Given the description of an element on the screen output the (x, y) to click on. 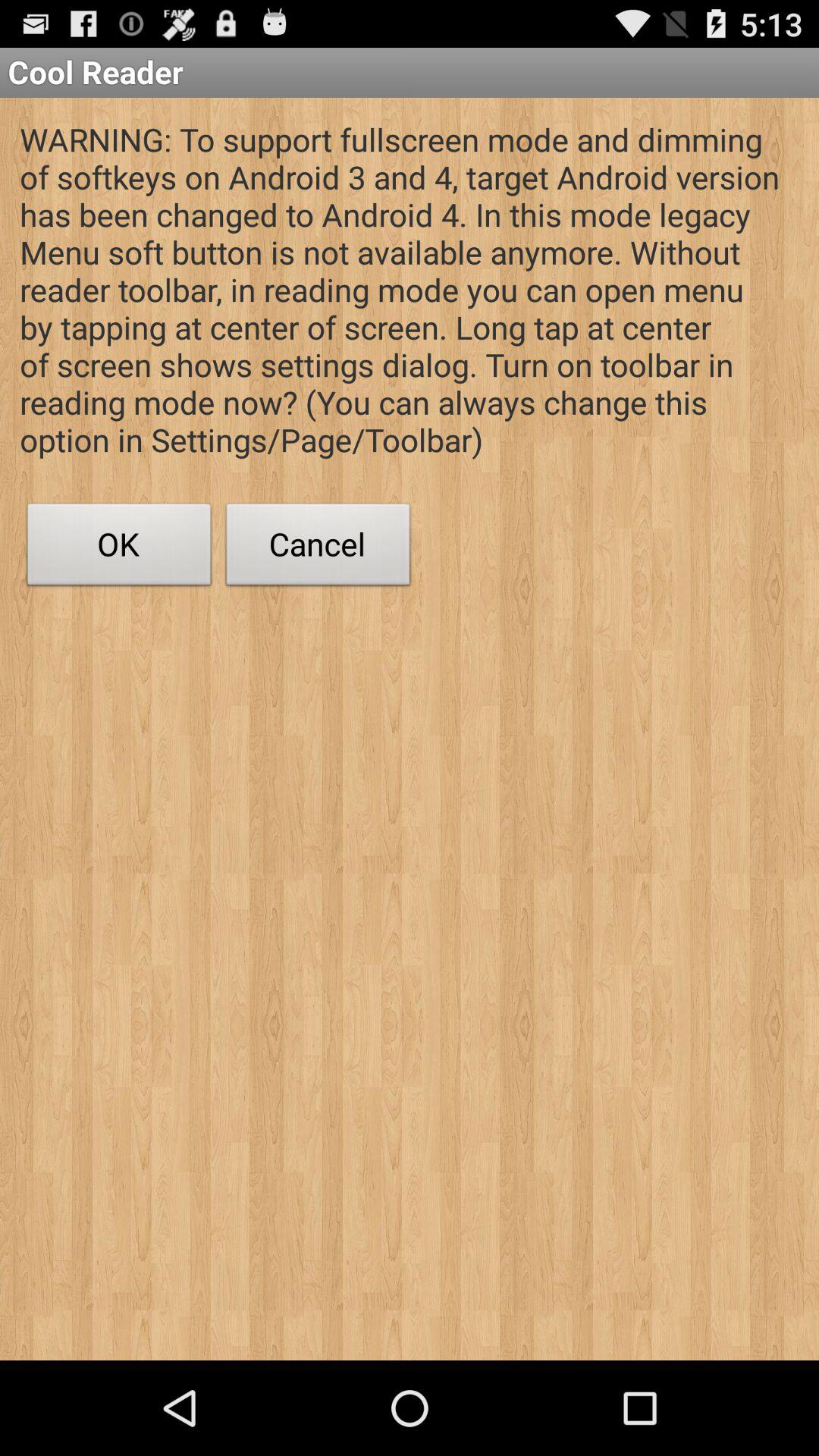
tap icon on the left (118, 548)
